Given the description of an element on the screen output the (x, y) to click on. 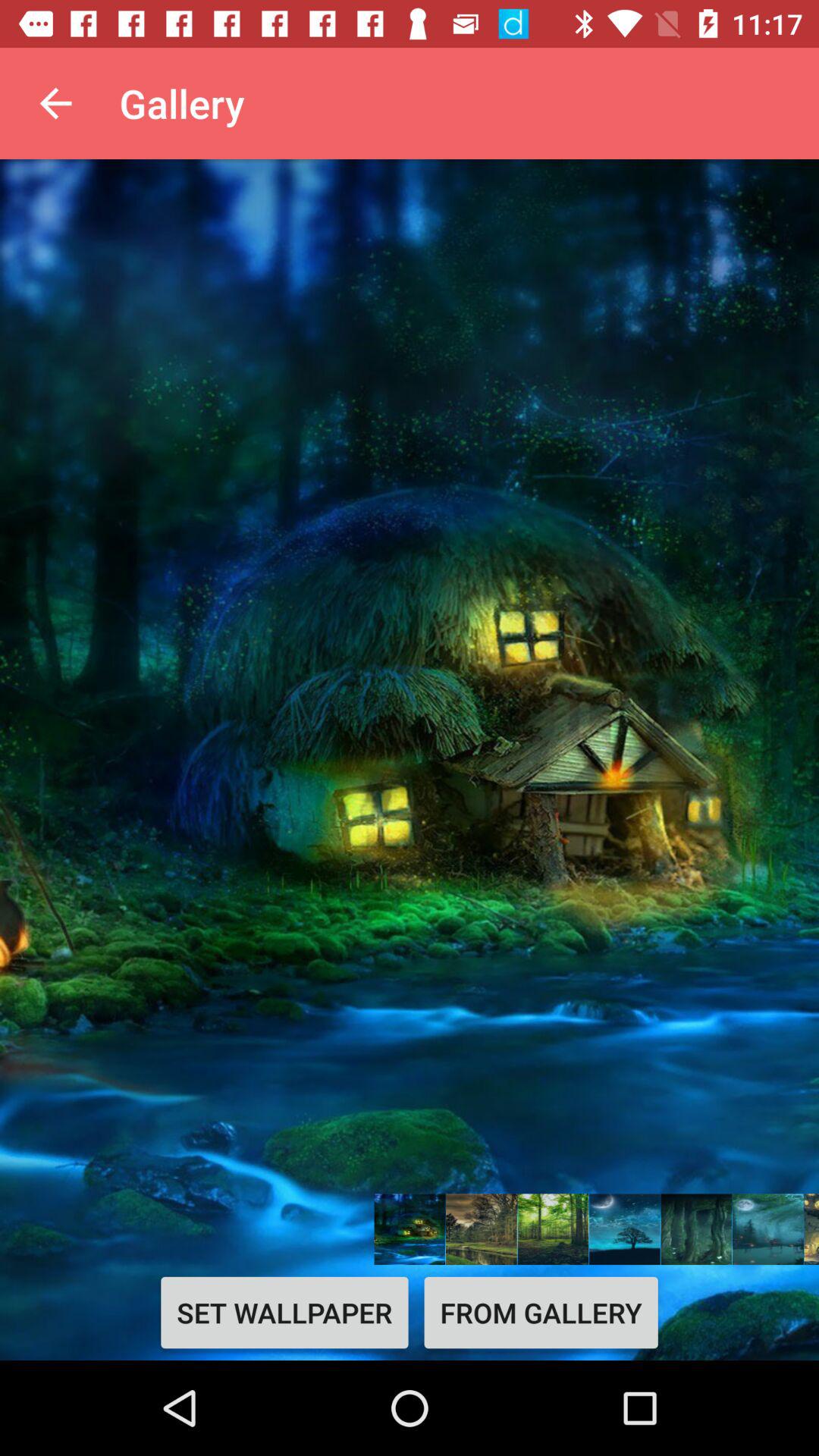
press icon next to from gallery icon (284, 1312)
